Given the description of an element on the screen output the (x, y) to click on. 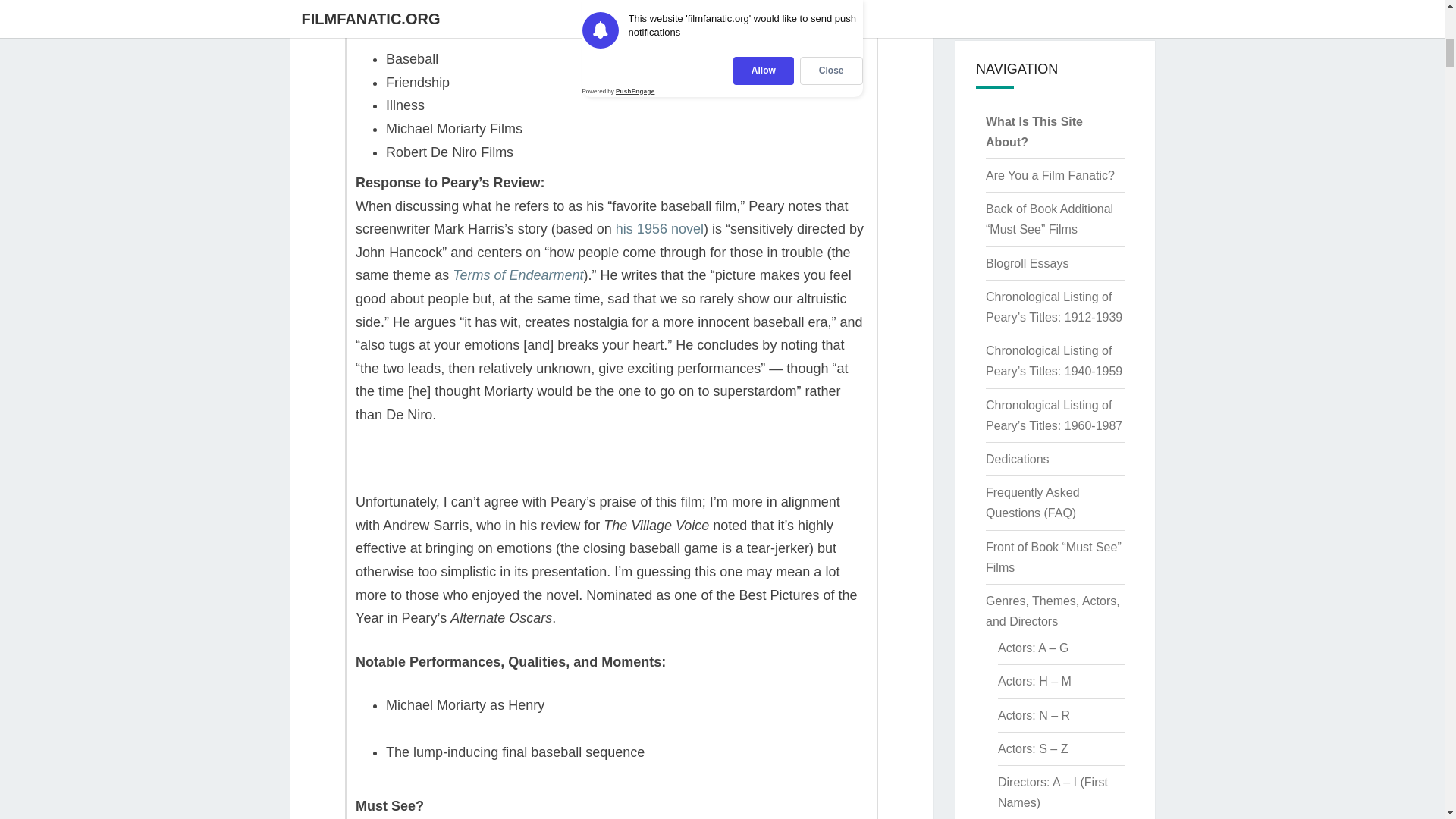
his 1956 novel (659, 228)
Terms of Endearment (517, 274)
